Given the description of an element on the screen output the (x, y) to click on. 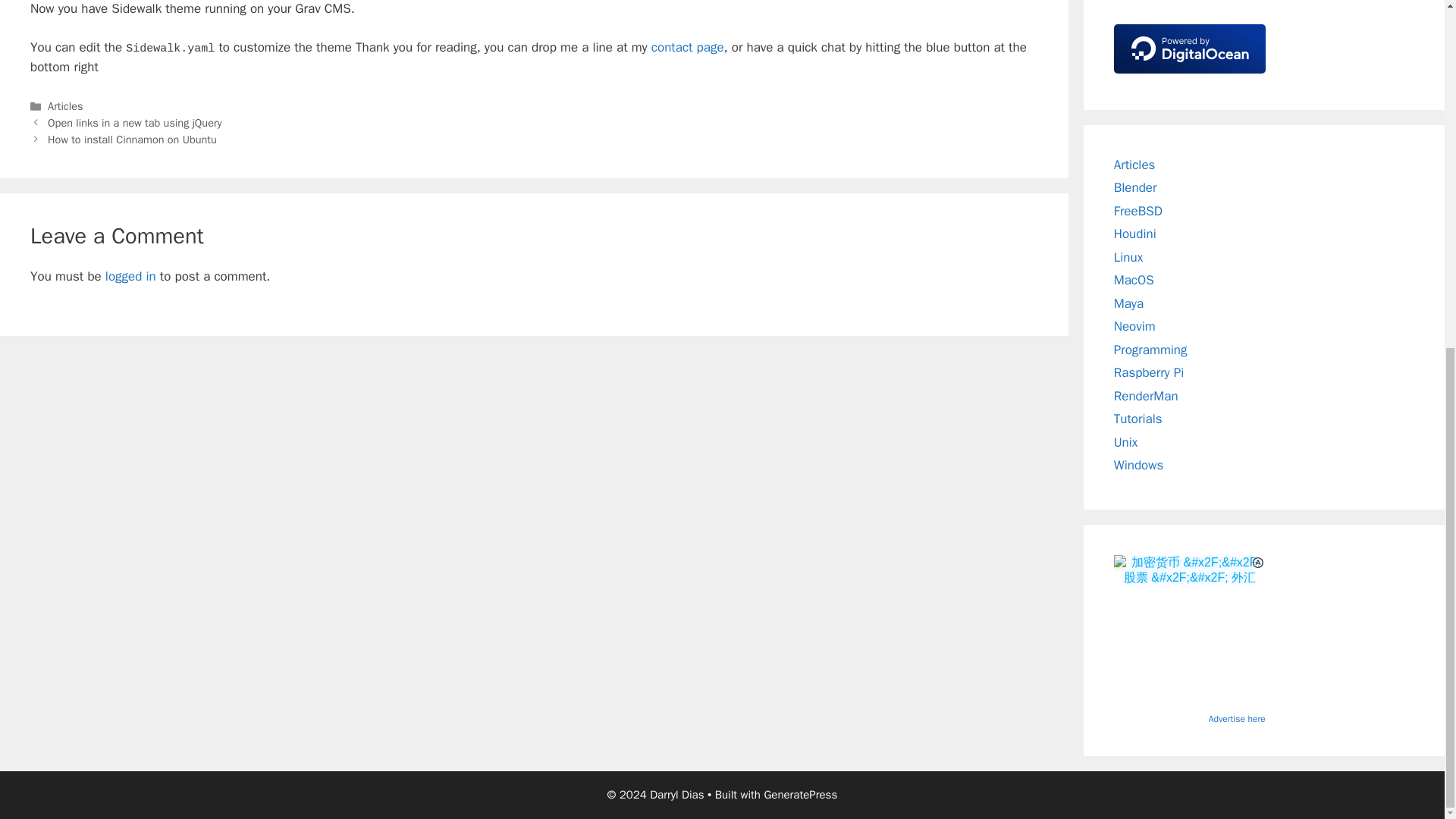
Articles (65, 106)
Open links in a new tab using jQuery (135, 122)
contact page (686, 47)
